Given the description of an element on the screen output the (x, y) to click on. 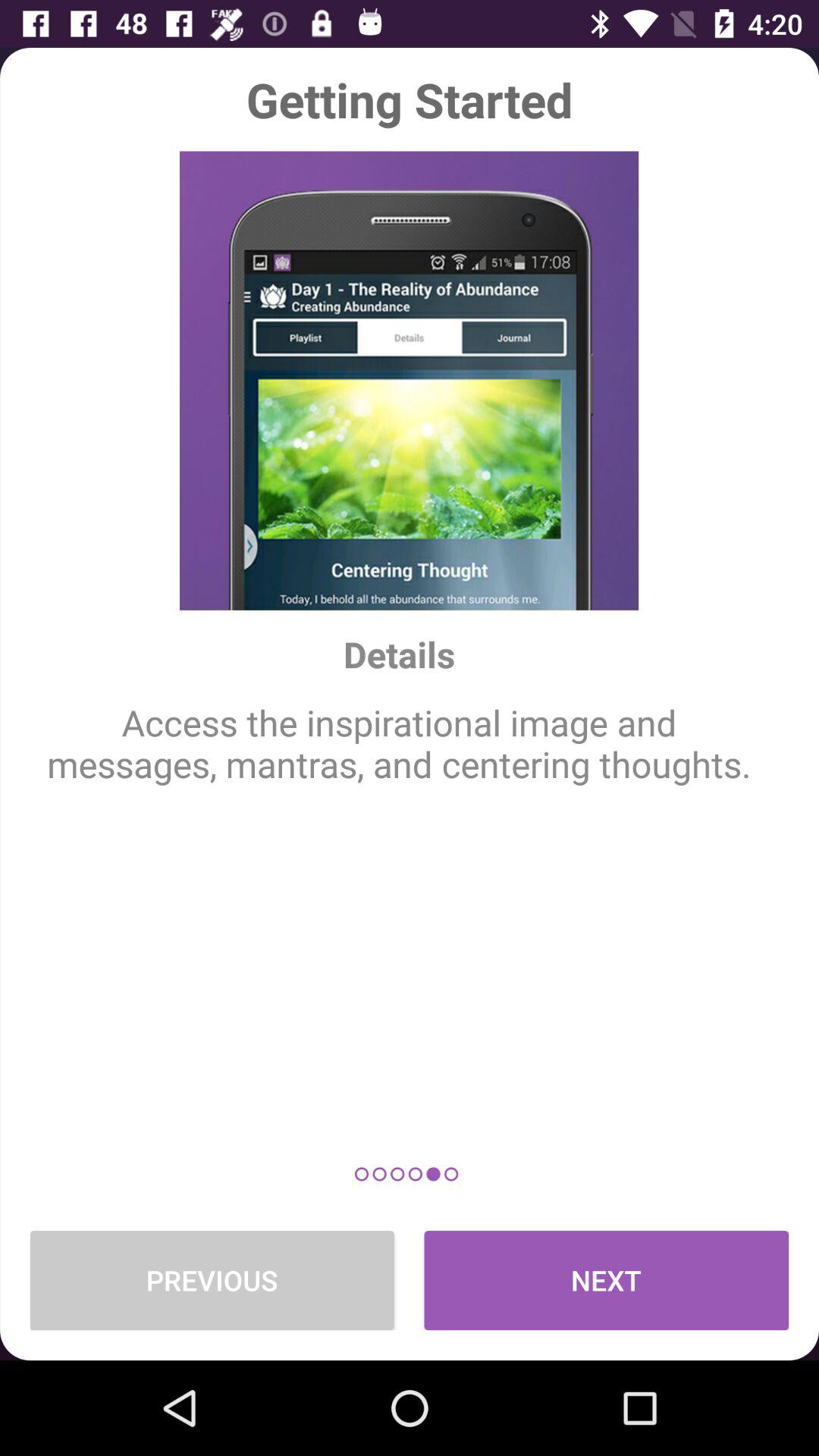
press item to the right of previous icon (606, 1280)
